Given the description of an element on the screen output the (x, y) to click on. 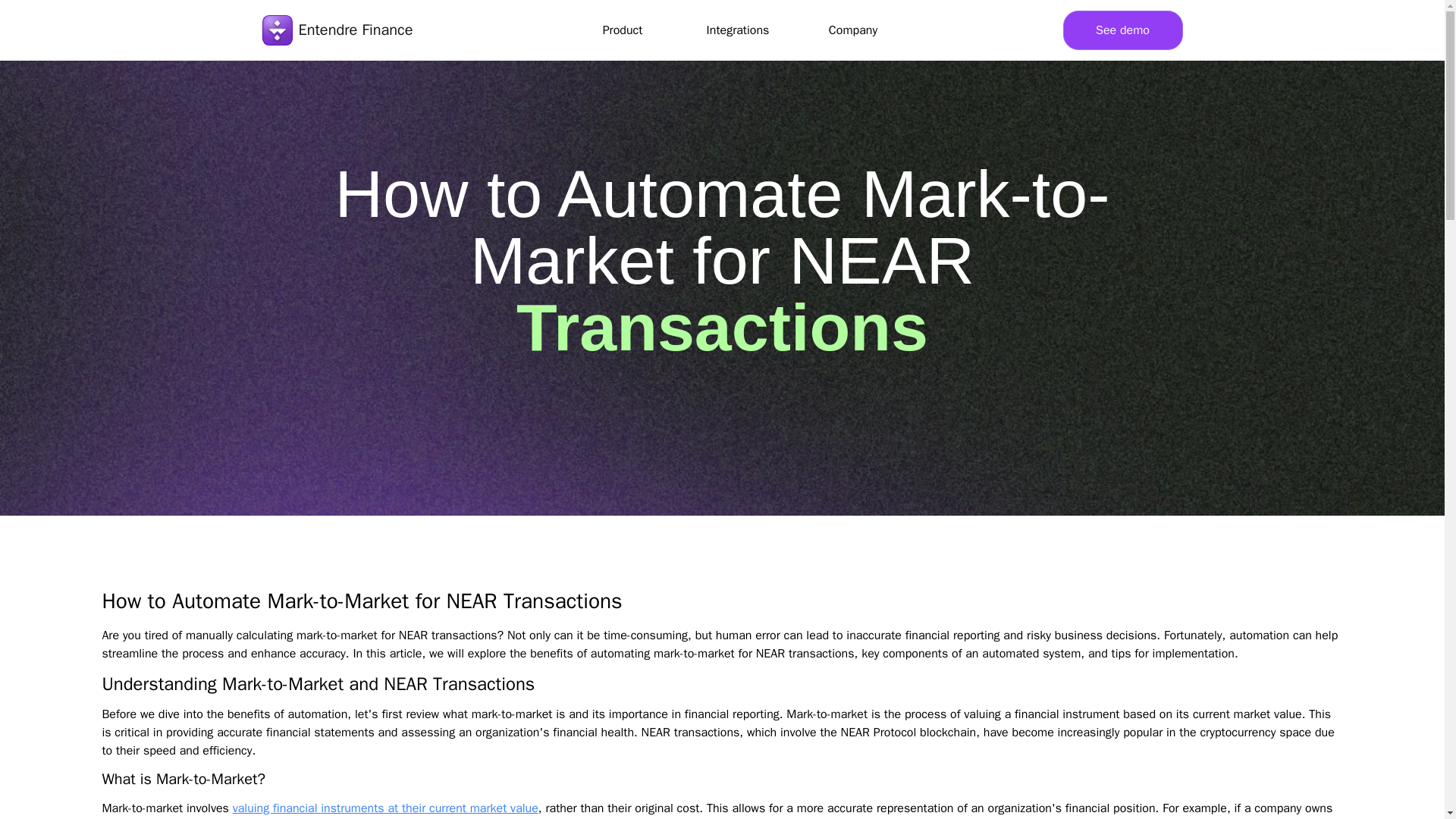
See demo (1122, 29)
valuing financial instruments at their current market value (385, 807)
Entendre Finance (337, 30)
